Given the description of an element on the screen output the (x, y) to click on. 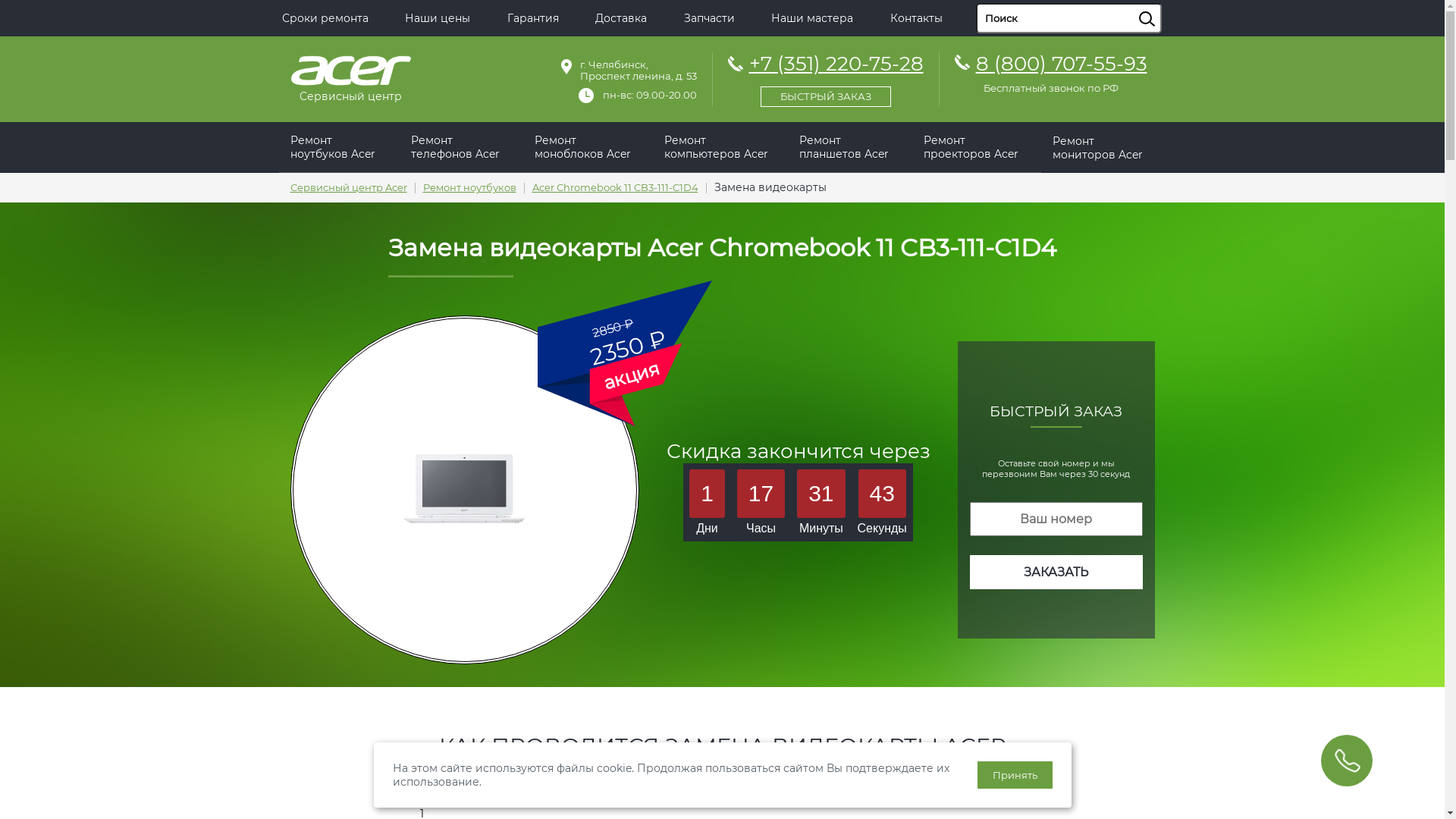
+7 (351) 220-75-28 Element type: text (825, 77)
sisea.search Element type: text (1165, 3)
8 (800) 707-55-93 Element type: text (1060, 63)
Acer Chromebook 11 CB3-111-C1D4 Element type: text (615, 187)
